Given the description of an element on the screen output the (x, y) to click on. 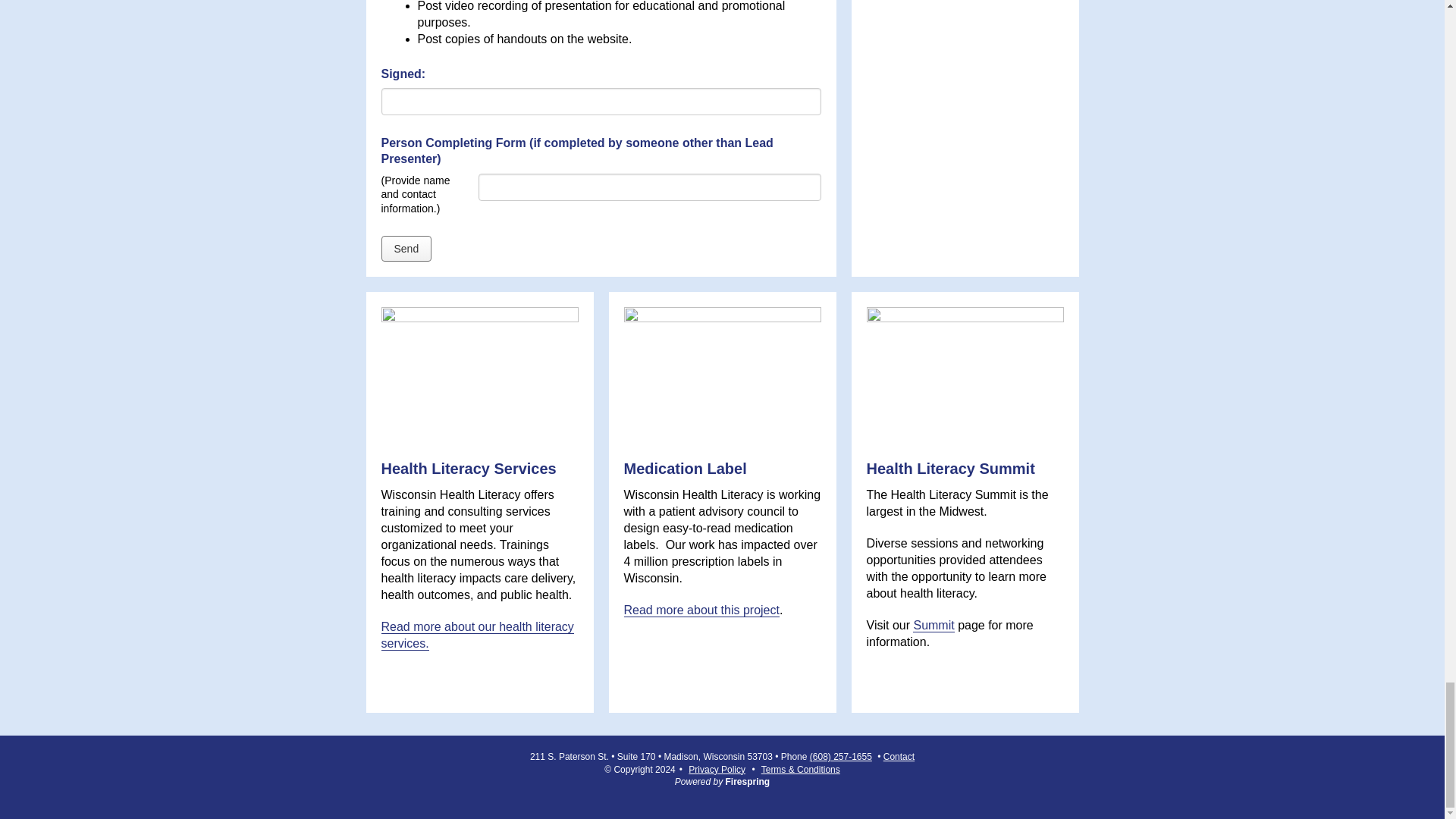
Summit Proposal Submissions (600, 130)
